Given the description of an element on the screen output the (x, y) to click on. 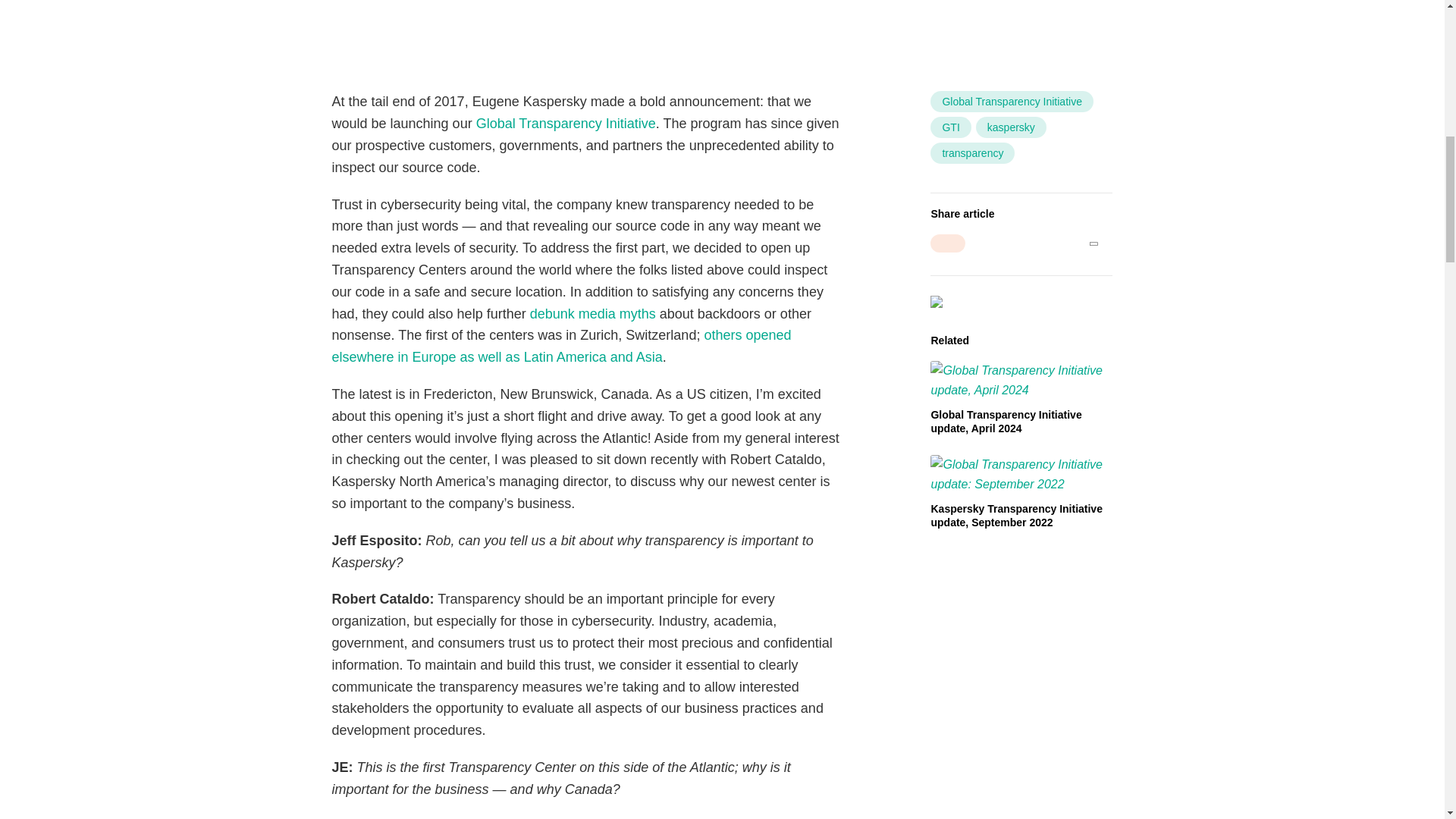
Share Embed (947, 243)
